Given the description of an element on the screen output the (x, y) to click on. 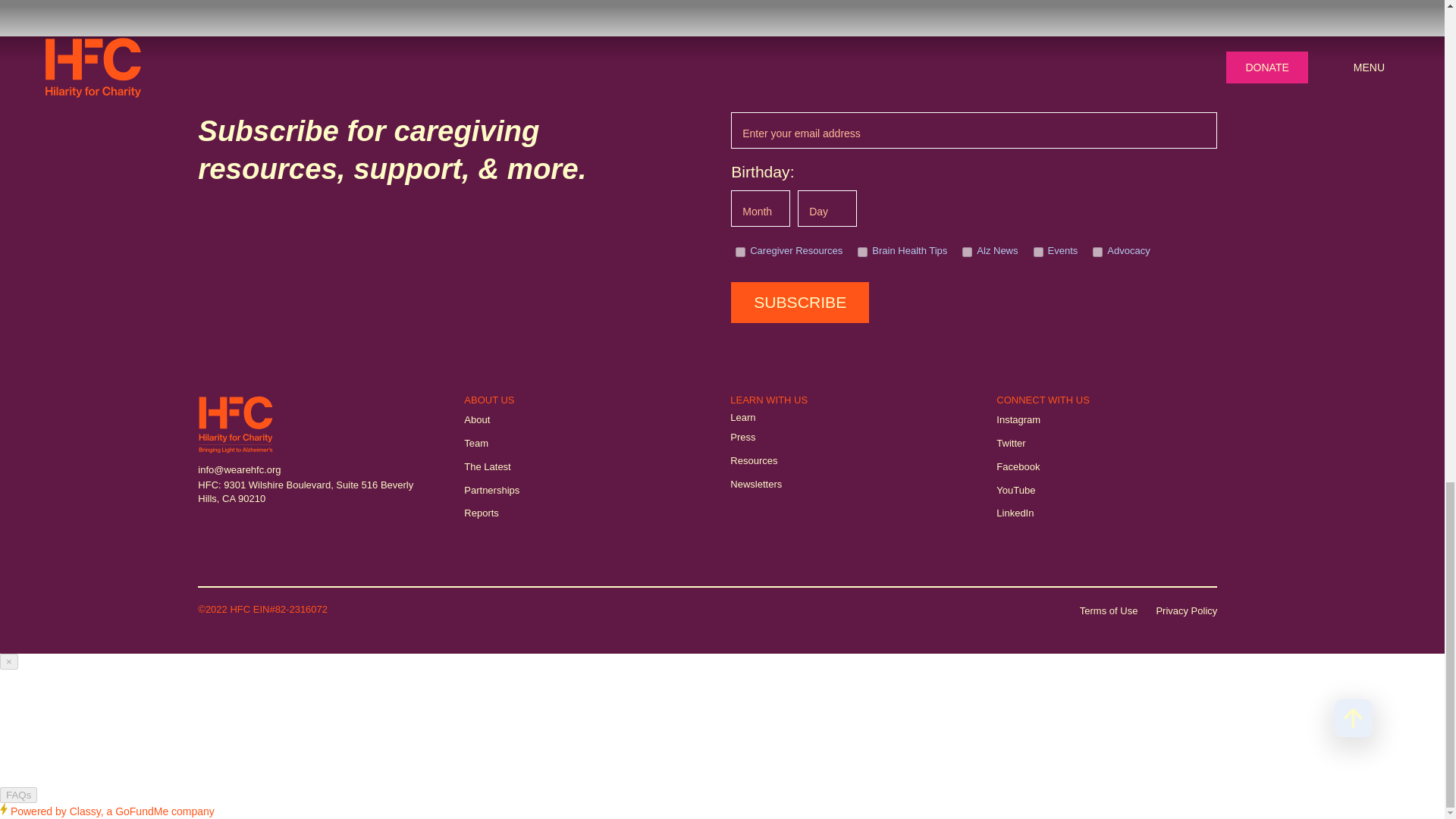
Reports (481, 513)
Twitter (1010, 443)
Terms of Use (1109, 611)
About (476, 420)
SUBSCRIBE (799, 301)
on (740, 252)
LinkedIn (1014, 513)
Instagram (1018, 420)
SUBSCRIBE (799, 301)
YouTube (1015, 490)
Press (742, 437)
The Latest (487, 467)
Learn (742, 417)
Facebook (1017, 467)
Privacy Policy (1186, 611)
